Given the description of an element on the screen output the (x, y) to click on. 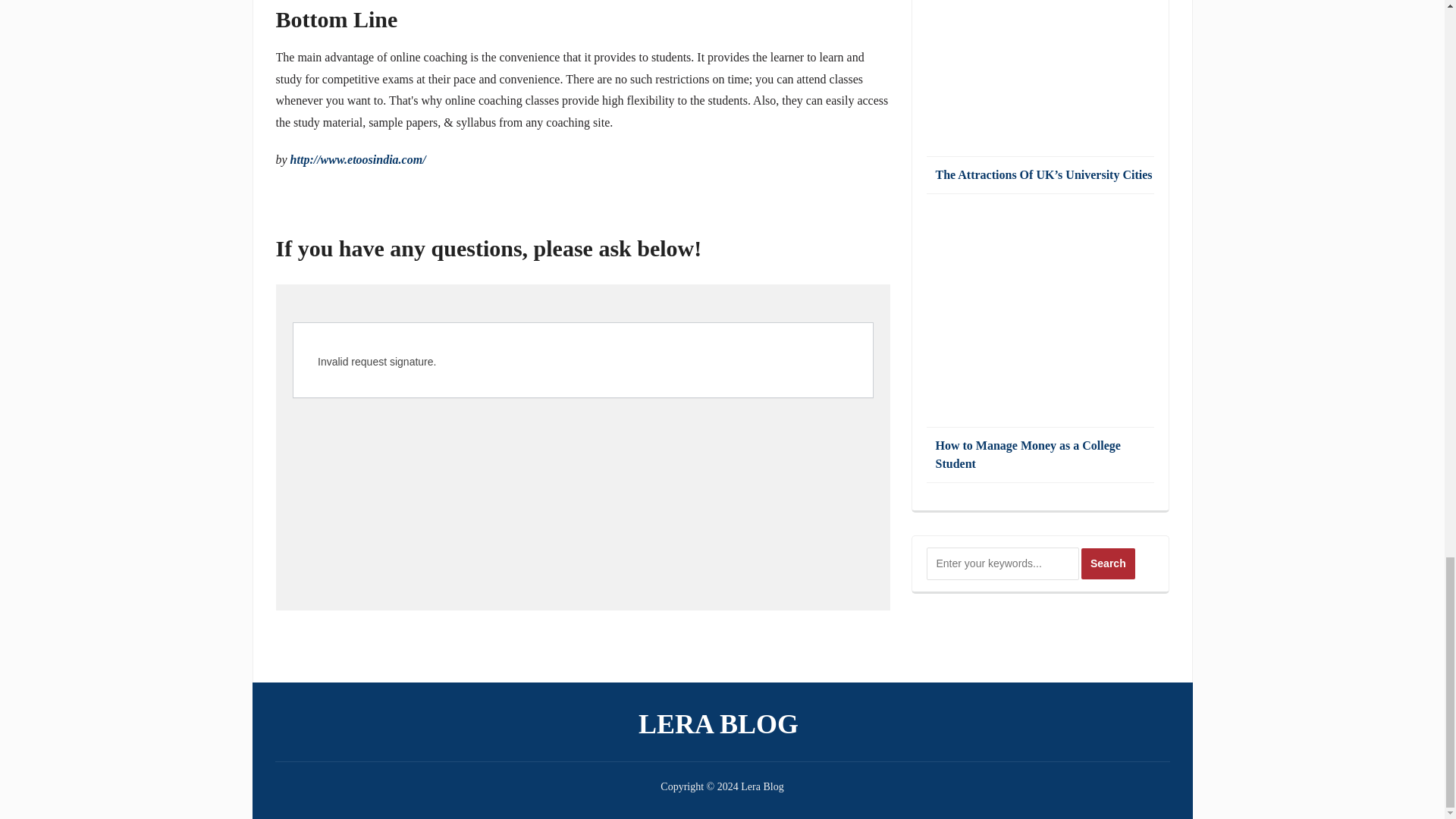
Search (1108, 563)
Search (1108, 563)
